Given the description of an element on the screen output the (x, y) to click on. 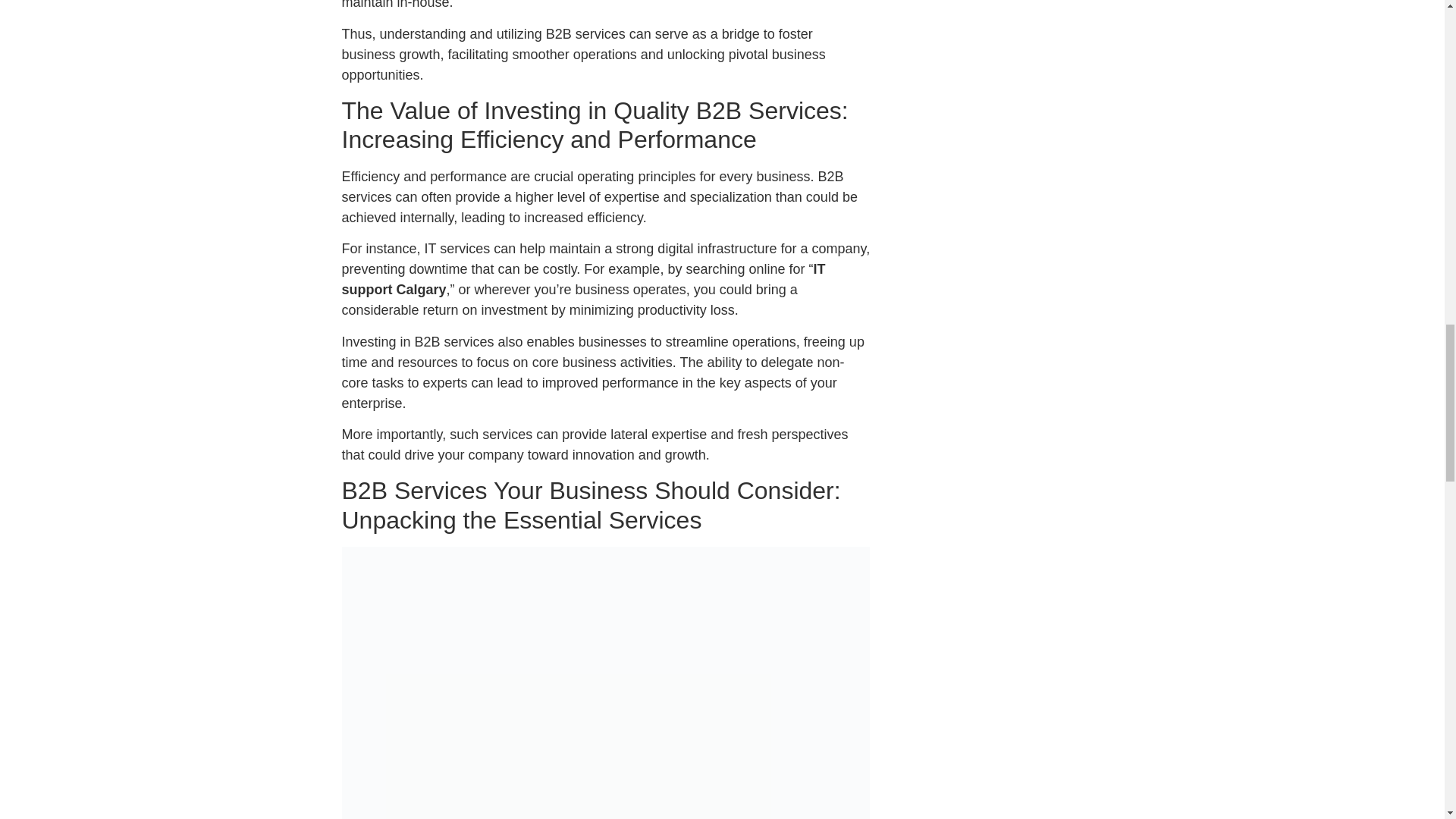
IT support Calgary (582, 279)
